Given the description of an element on the screen output the (x, y) to click on. 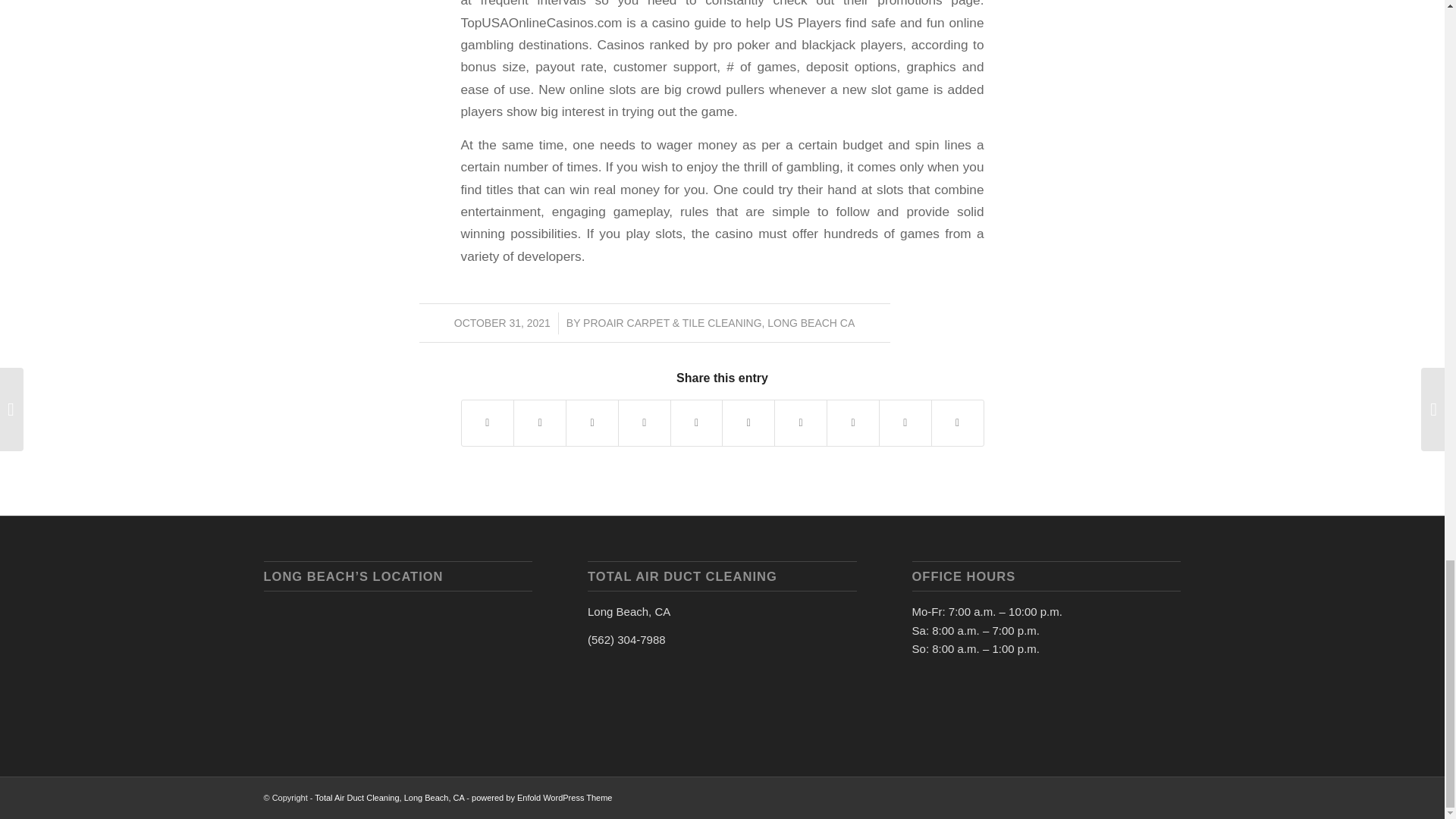
powered by Enfold WordPress Theme (541, 797)
Total Air Duct Cleaning, Long Beach, CA (389, 797)
